Given the description of an element on the screen output the (x, y) to click on. 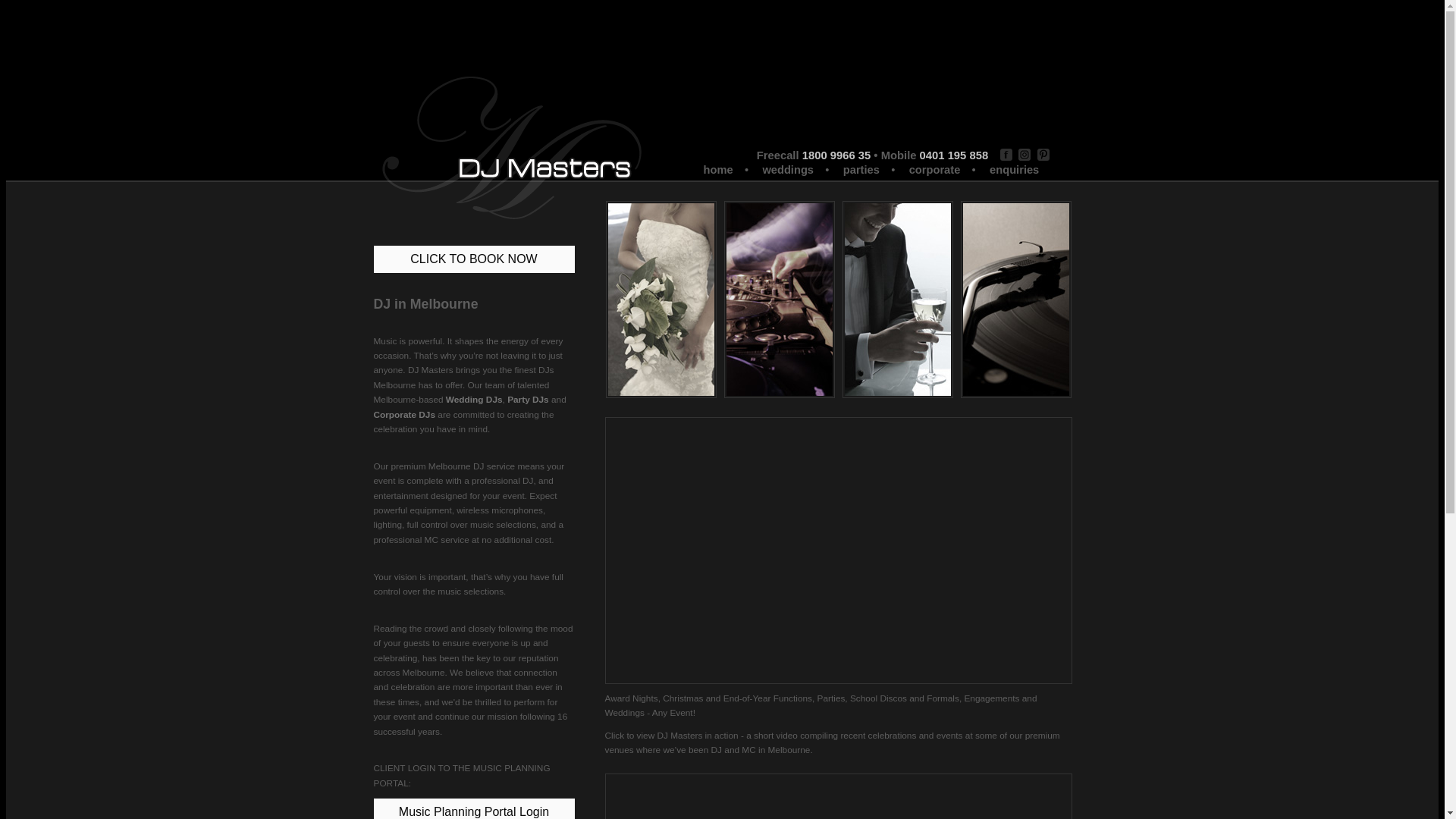
CLICK TO BOOK NOW Element type: text (473, 259)
home Element type: text (716, 167)
weddings Element type: text (786, 167)
parties Element type: text (859, 167)
enquiries Element type: text (1013, 167)
corporate Element type: text (933, 167)
0401 195 858 Element type: text (953, 155)
1800 9966 35 Element type: text (836, 155)
